Given the description of an element on the screen output the (x, y) to click on. 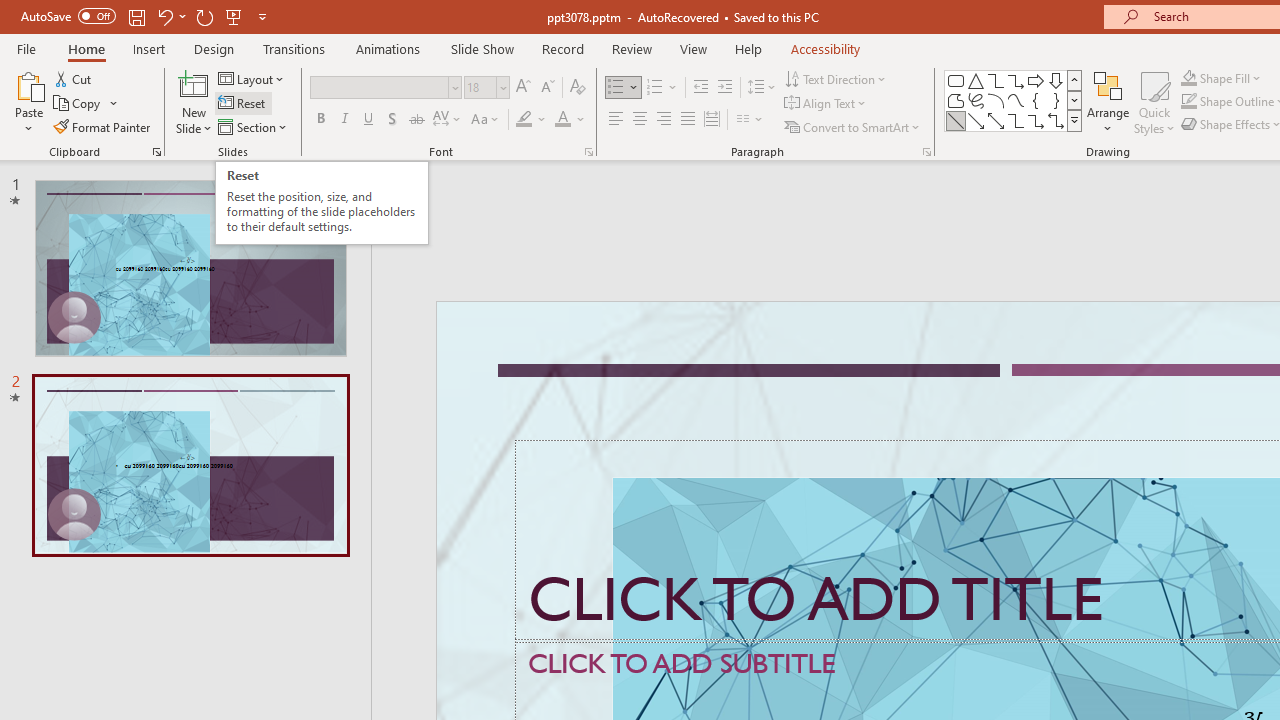
Line (955, 120)
Arrow: Right (1035, 80)
Shape Fill (1221, 78)
Left Brace (1035, 100)
Text Highlight Color (531, 119)
Font... (588, 151)
Line Arrow (975, 120)
Strikethrough (416, 119)
Justify (687, 119)
Connector: Elbow (1016, 120)
Right Brace (1055, 100)
Increase Font Size (522, 87)
